Given the description of an element on the screen output the (x, y) to click on. 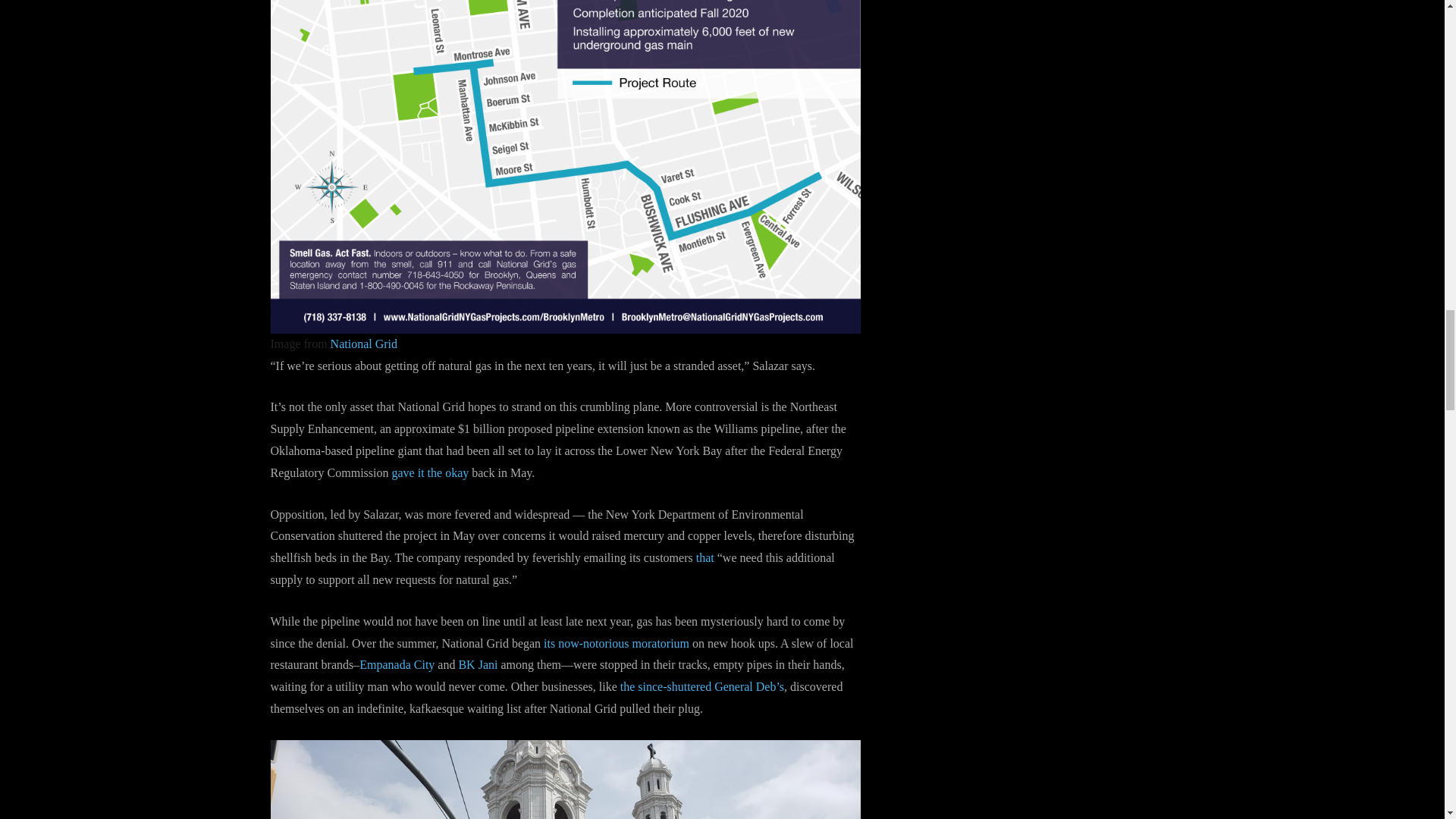
National Grid (363, 343)
its now-notorious moratorium (615, 643)
Empanada City (396, 664)
BK Jani (477, 664)
gave it the okay (429, 472)
that (704, 557)
